Given the description of an element on the screen output the (x, y) to click on. 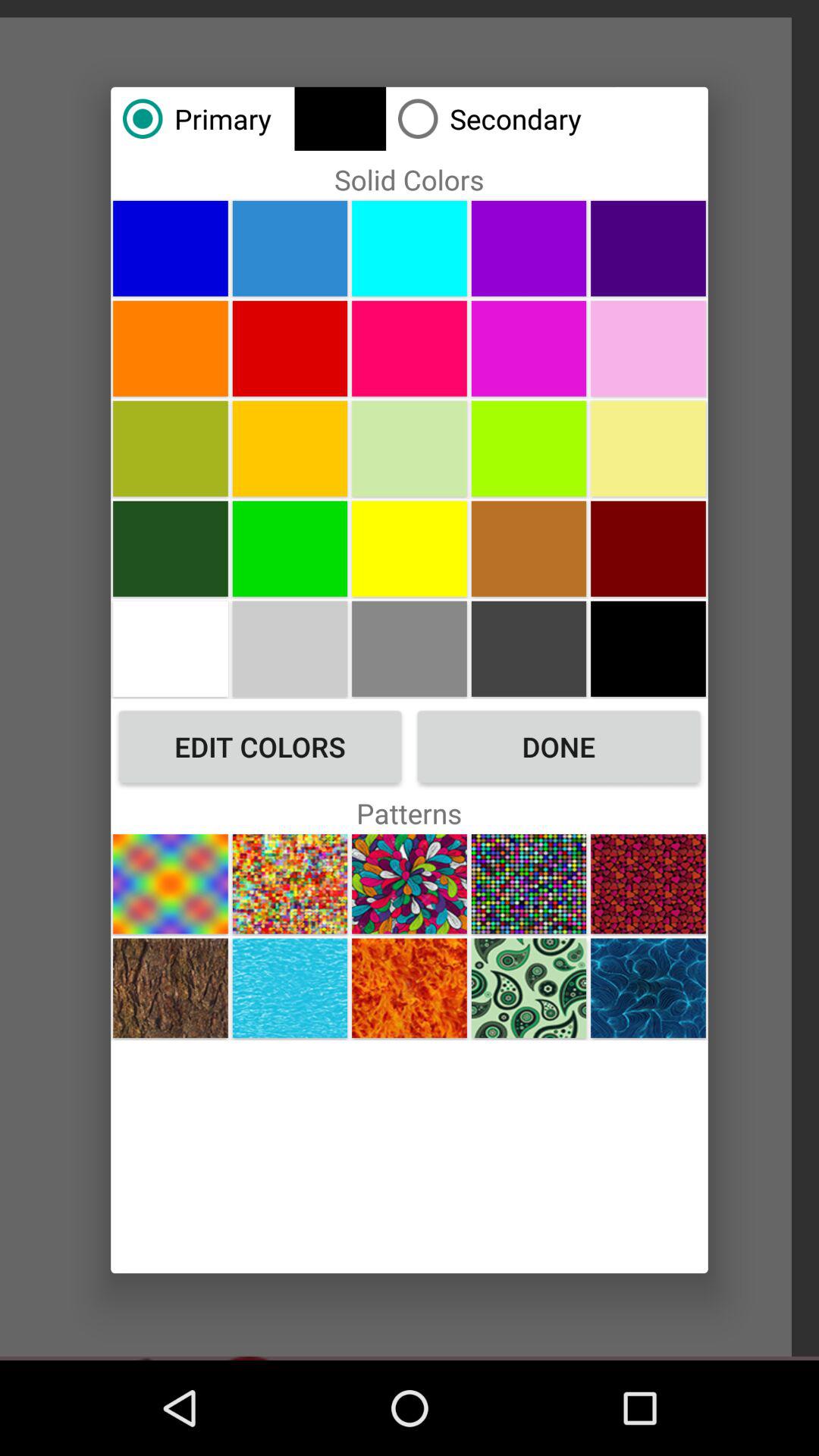
gold color (409, 648)
